Given the description of an element on the screen output the (x, y) to click on. 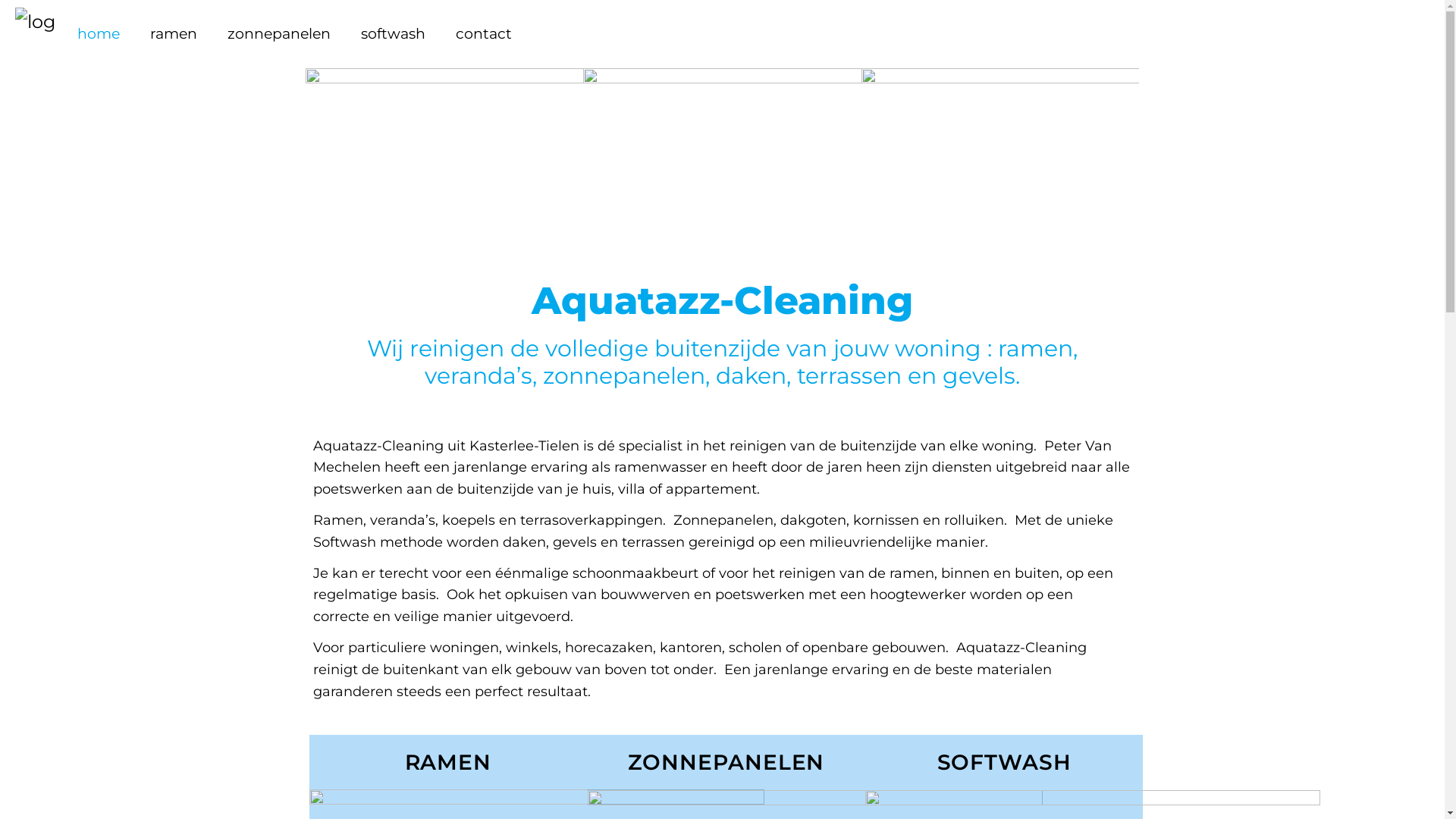
ramen Element type: text (173, 33)
home Element type: text (98, 33)
ZONNEPANELEN Element type: text (726, 761)
softwash Element type: text (393, 33)
SOFTWASH Element type: text (1004, 761)
RAMEN Element type: text (448, 761)
zonnepanelen Element type: text (278, 33)
contact Element type: text (483, 33)
